Given the description of an element on the screen output the (x, y) to click on. 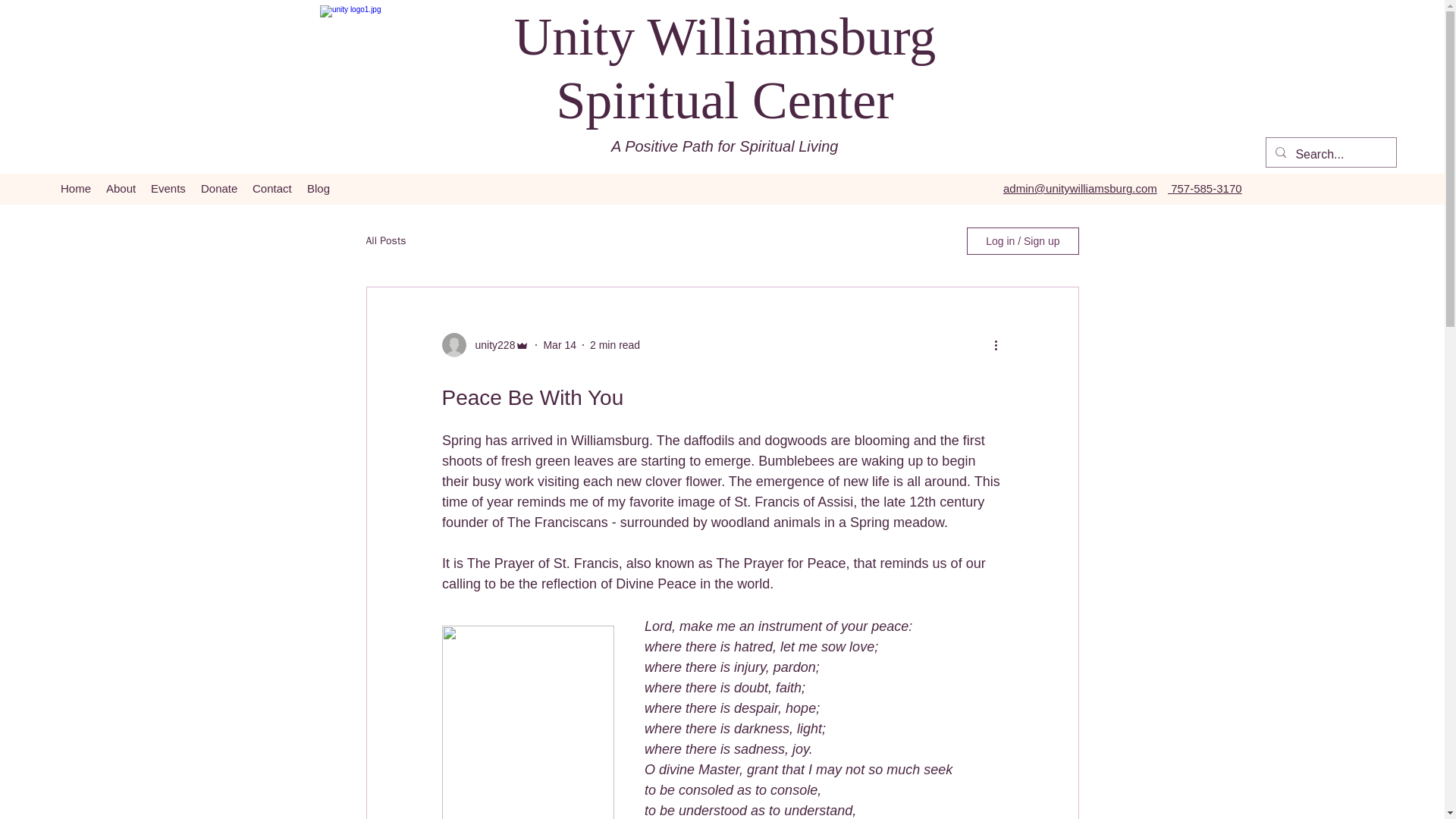
2 min read (614, 344)
Mar 14 (559, 344)
Home (75, 188)
Contact (271, 188)
Donate (218, 188)
Events (167, 188)
About (120, 188)
Unity Williamsburg Spiritual Center (724, 68)
Blog (318, 188)
All Posts (385, 241)
unity228 (490, 344)
 757-585-3170 (1204, 187)
